Given the description of an element on the screen output the (x, y) to click on. 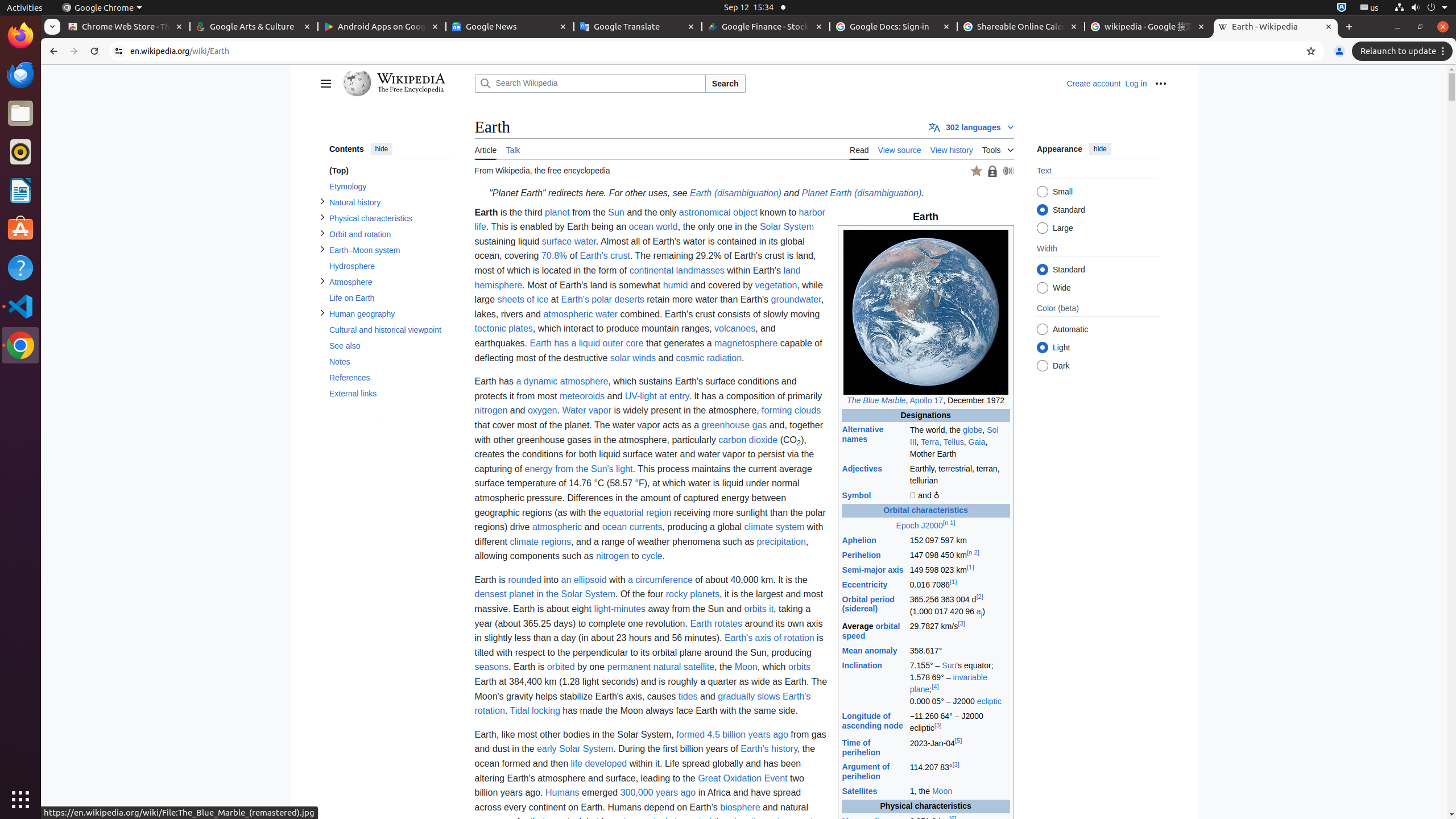
Rhythmbox Element type: push-button (20, 151)
Earthly, terrestrial, terran, tellurian Element type: table-cell (959, 474)
light-minutes Element type: link (619, 609)
sheets of ice Element type: link (522, 299)
astronomical object Element type: link (717, 212)
